Given the description of an element on the screen output the (x, y) to click on. 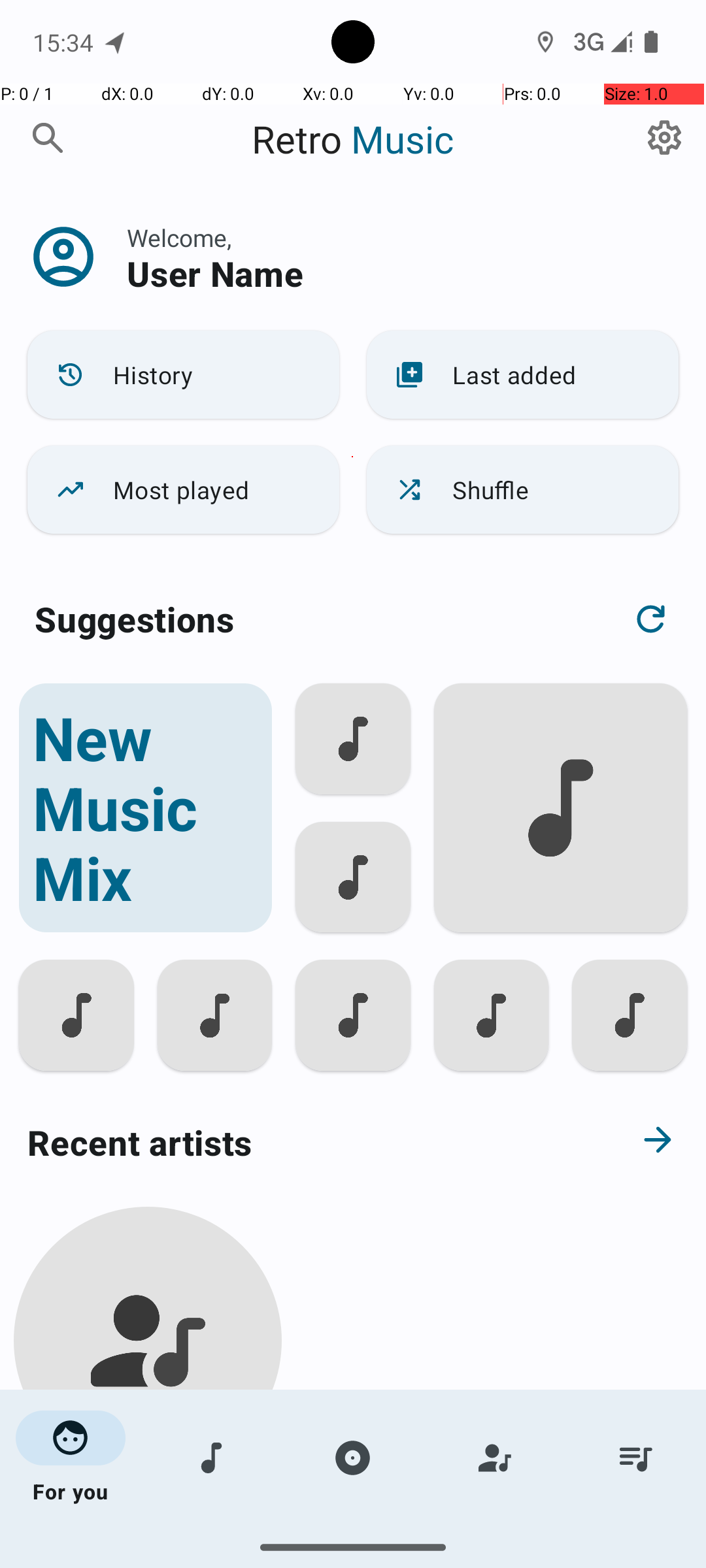
Emilia Element type: android.widget.TextView (147, 1503)
